Given the description of an element on the screen output the (x, y) to click on. 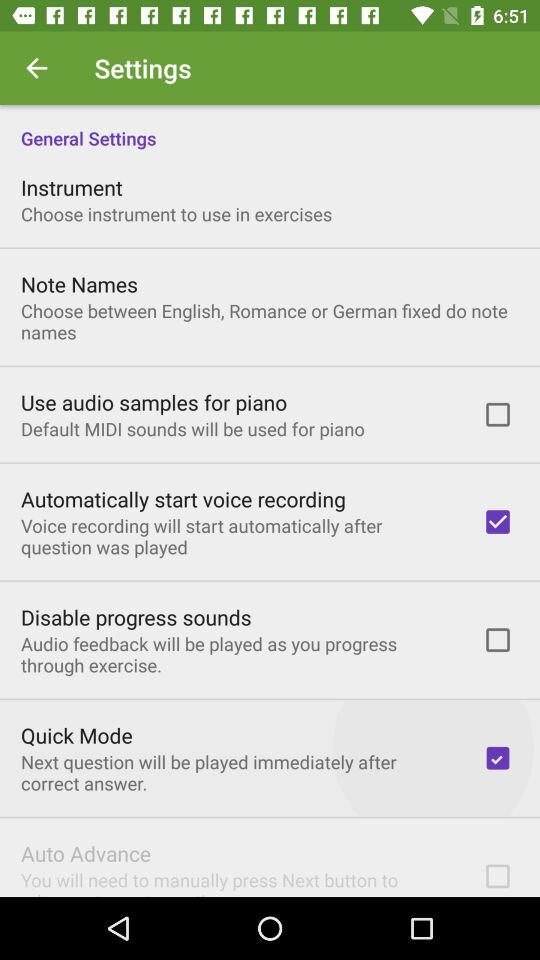
launch the icon below the note names (270, 321)
